Given the description of an element on the screen output the (x, y) to click on. 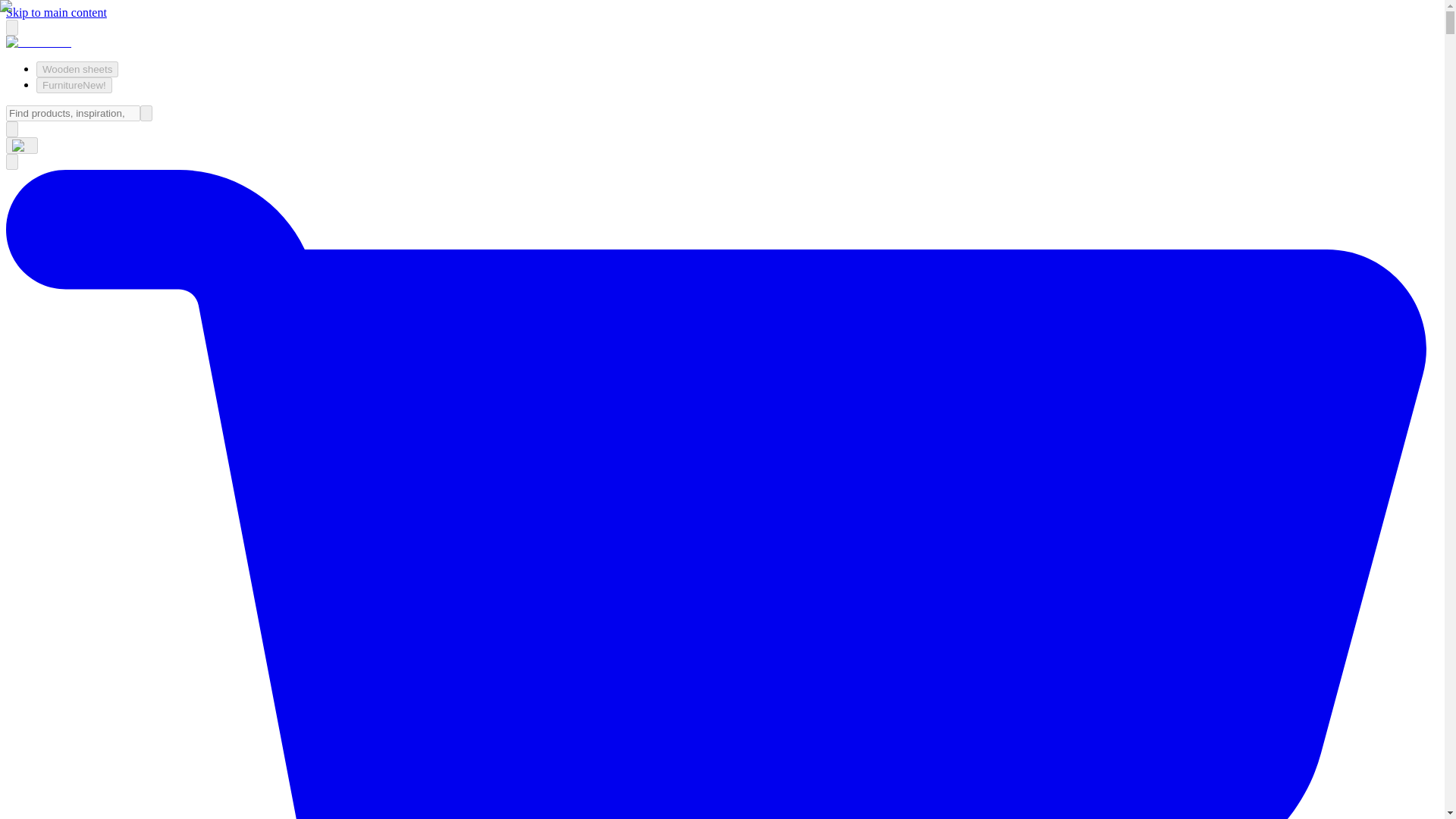
TOSIZE.ie (38, 42)
Change country (21, 145)
Wooden sheets (76, 68)
Skip to main content (55, 11)
FurnitureNew! (74, 84)
